Given the description of an element on the screen output the (x, y) to click on. 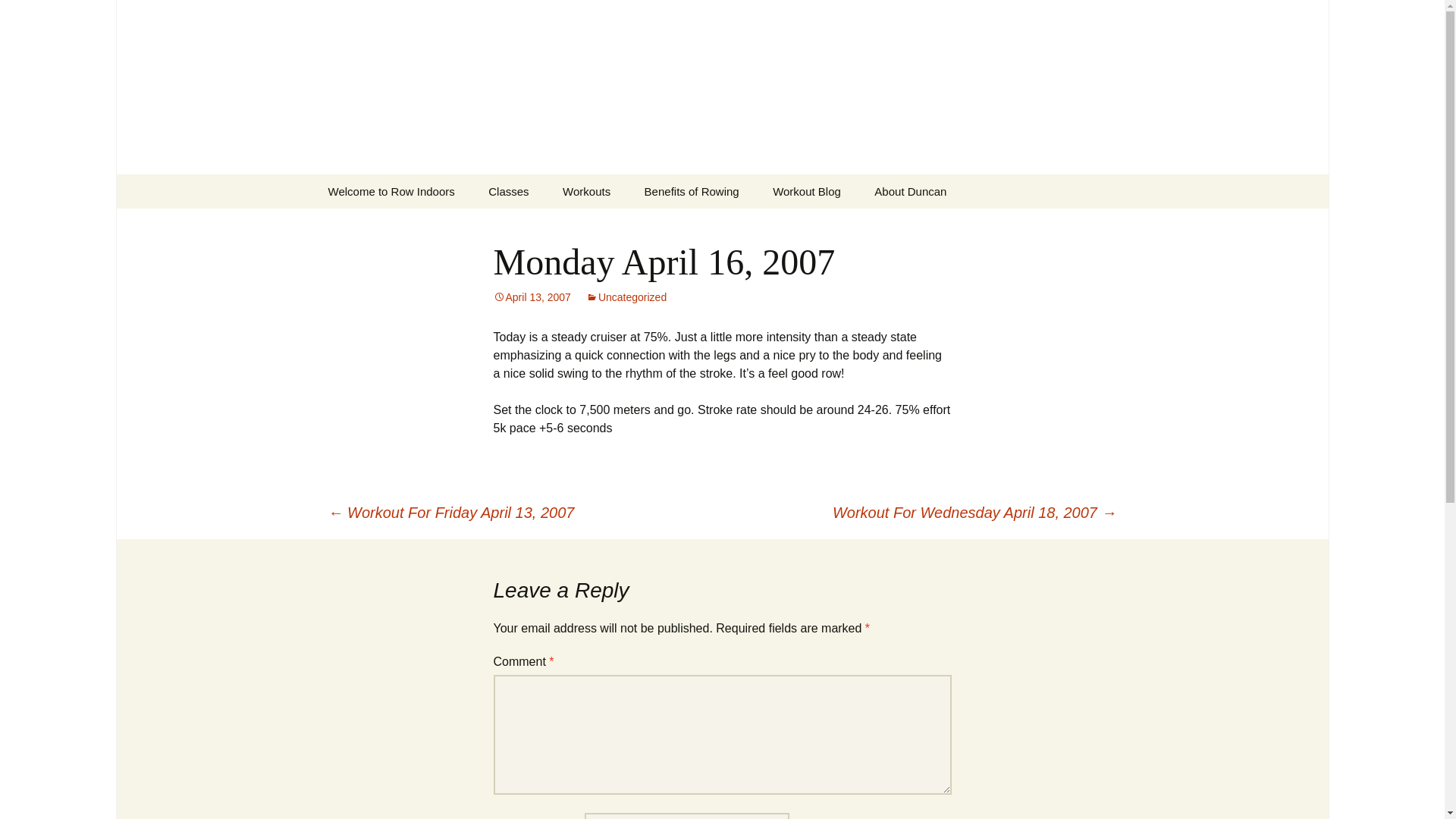
Uncategorized (626, 297)
Permalink to Monday April 16, 2007 (531, 297)
Search (34, 15)
Welcome to Row Indoors (390, 191)
Benefits of Rowing (691, 191)
Workout Blog (806, 191)
Search (18, 15)
About Duncan (909, 191)
